Given the description of an element on the screen output the (x, y) to click on. 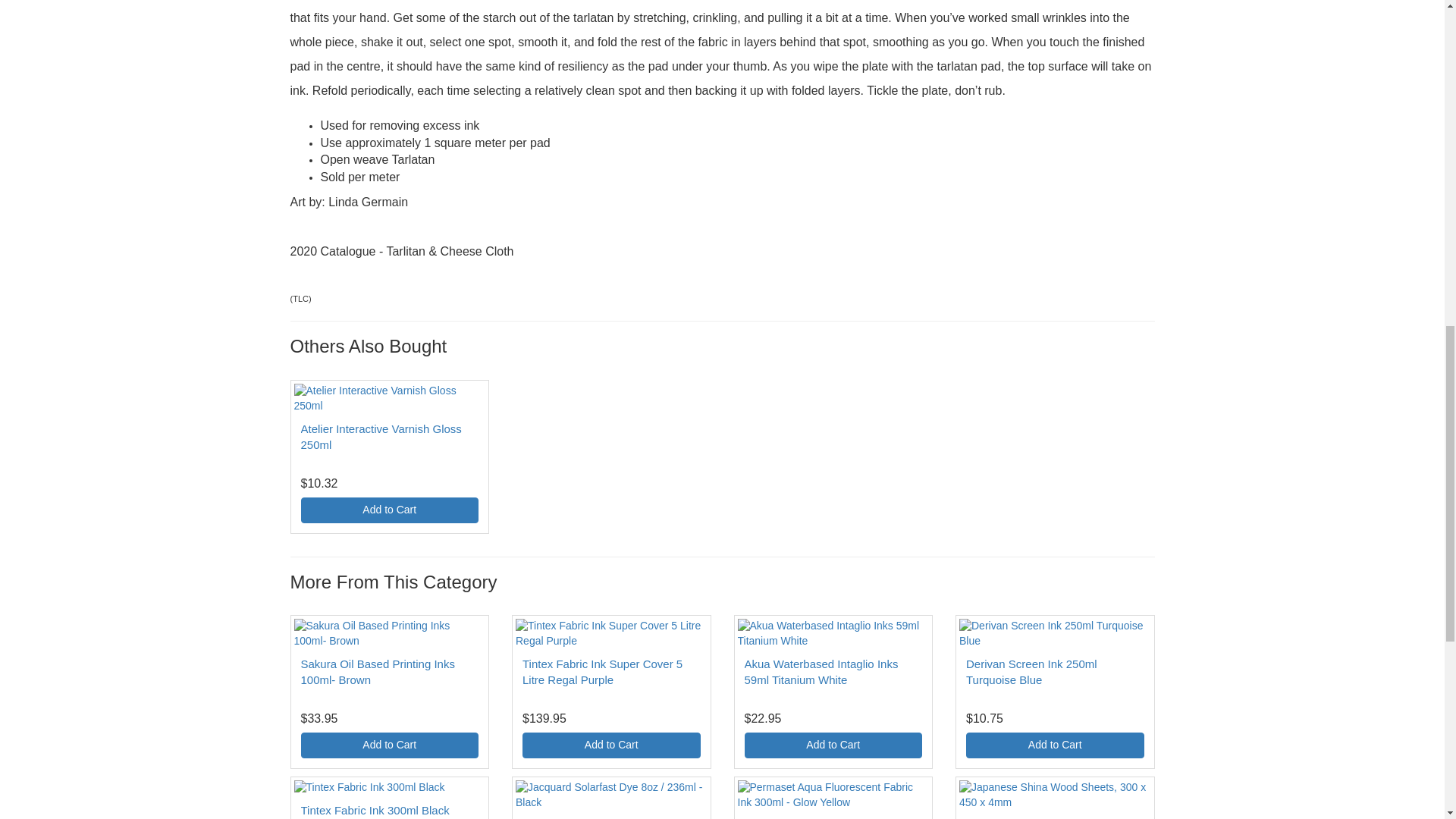
Add to Cart (389, 510)
Sakura Oil Based Printing Inks 100ml- Brown (376, 671)
Derivan Screen Ink 250ml Turquoise Blue (1031, 671)
Add to Cart (833, 745)
Tintex Fabric Ink Super Cover 5 Litre Regal Purple (602, 671)
Add to Cart (611, 745)
Atelier Interactive Varnish Gloss 250ml (380, 436)
Tintex Fabric Ink 300ml Black (373, 809)
Akua Waterbased Intaglio Inks 59ml Titanium White (821, 671)
Add to Cart (389, 745)
